Given the description of an element on the screen output the (x, y) to click on. 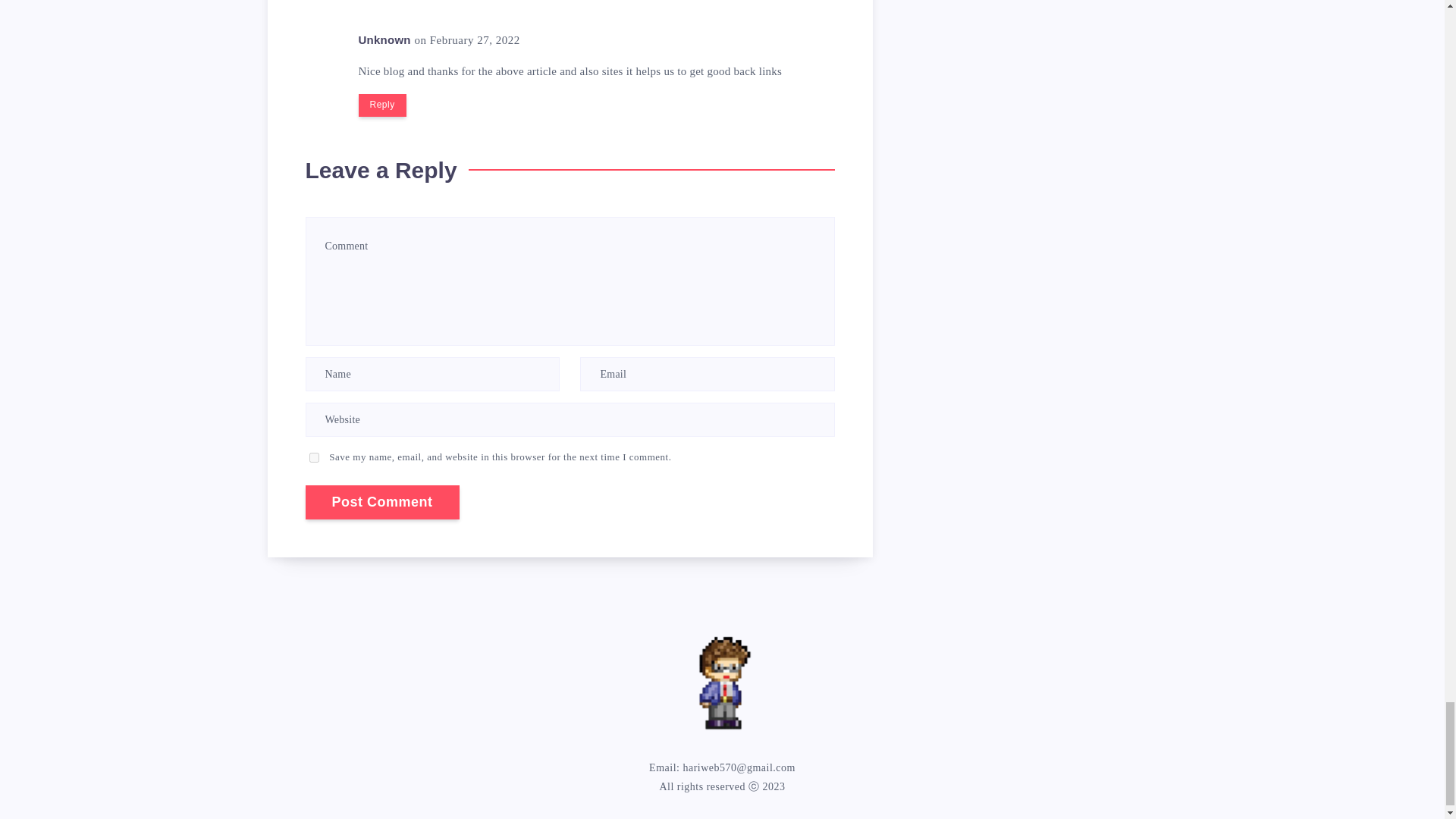
Post Comment (381, 502)
Reply (382, 105)
yes (313, 457)
Post Comment (381, 502)
Unknown (384, 39)
